Given the description of an element on the screen output the (x, y) to click on. 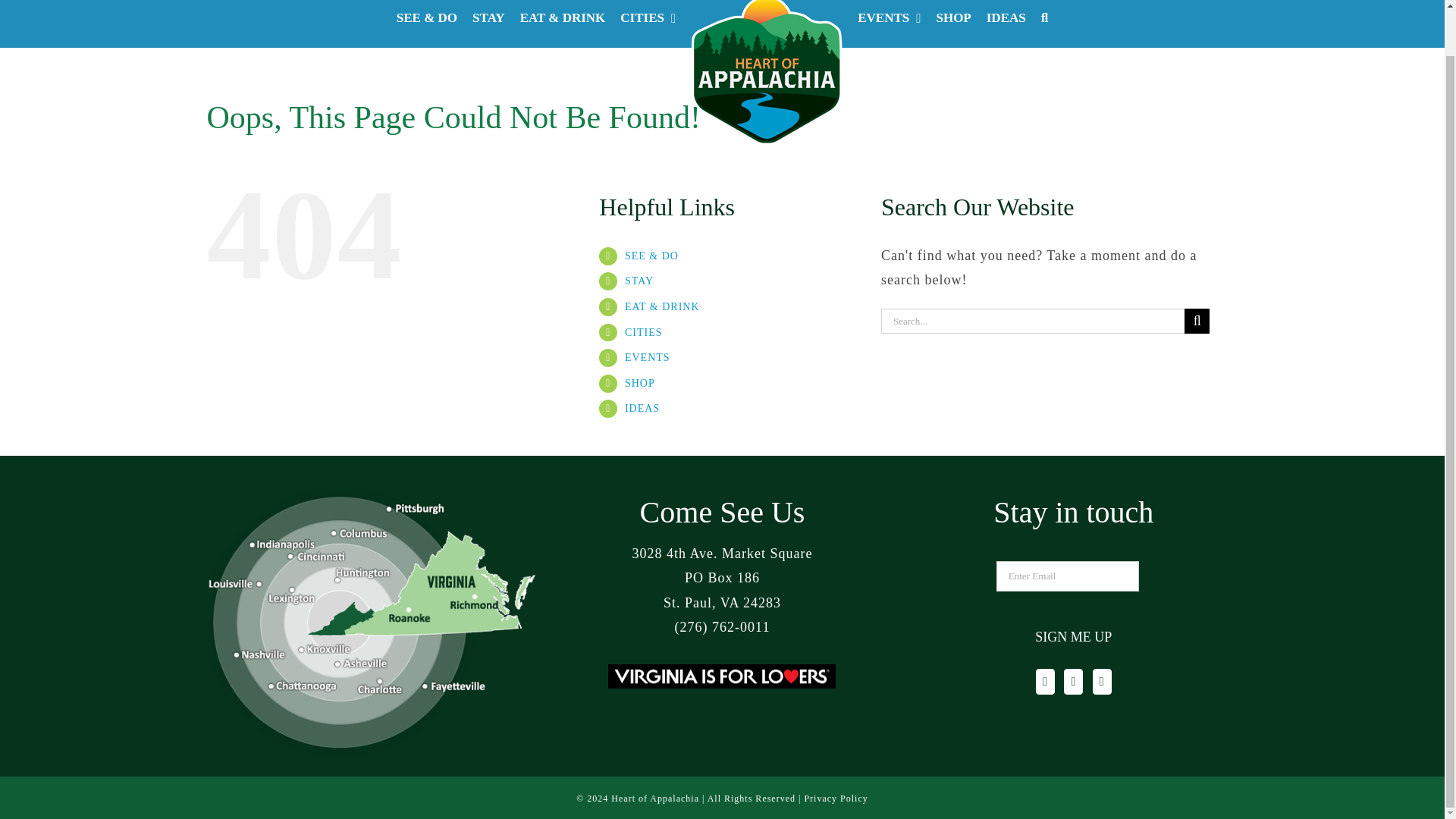
Search (1044, 23)
IDEAS (1006, 23)
EVENTS (888, 23)
SHOP (953, 23)
CITIES (647, 23)
Sign Me Up (1073, 636)
STAY (488, 23)
